Given the description of an element on the screen output the (x, y) to click on. 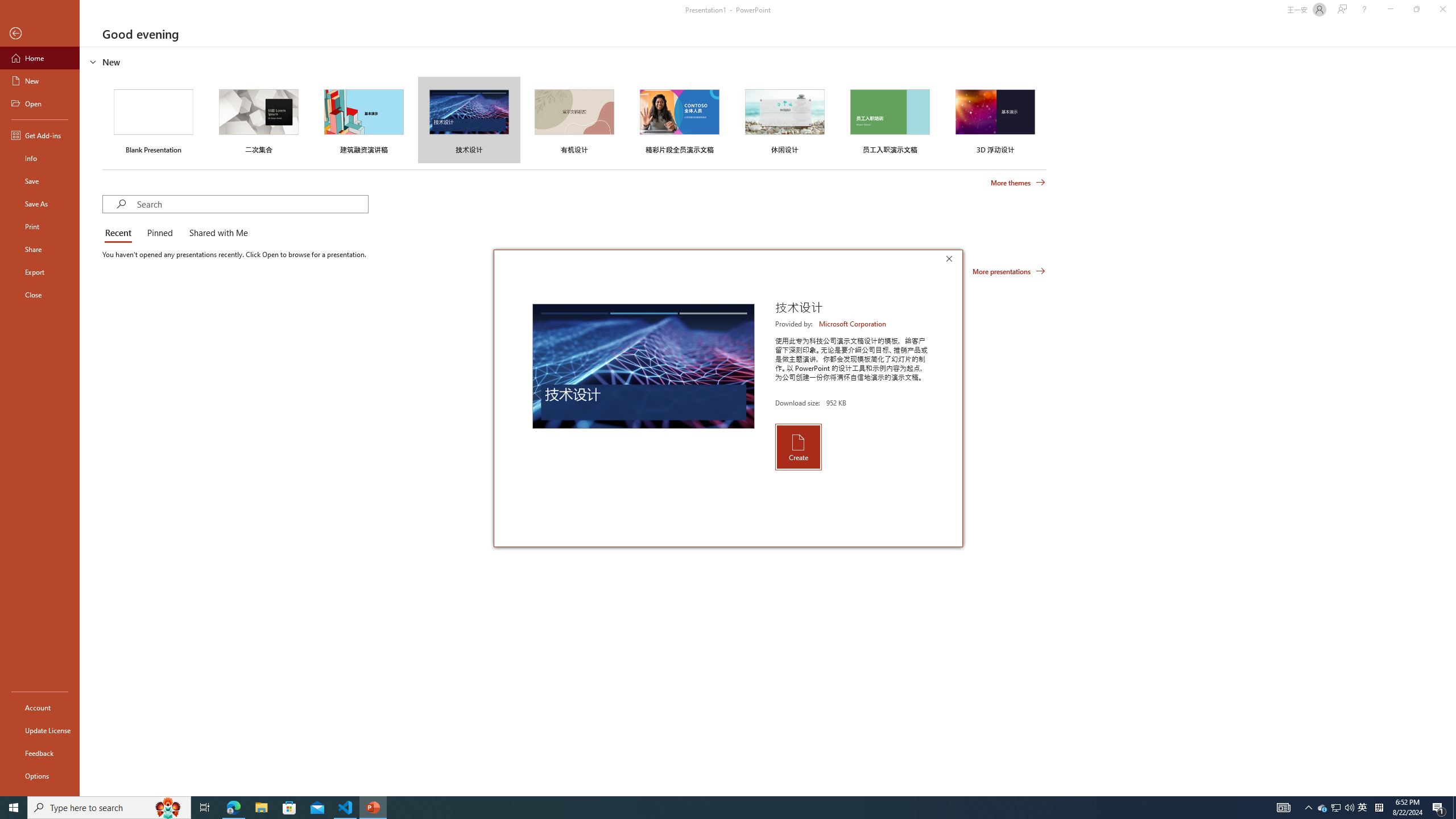
More themes (1018, 182)
Class: NetUIScrollBar (1450, 421)
